Given the description of an element on the screen output the (x, y) to click on. 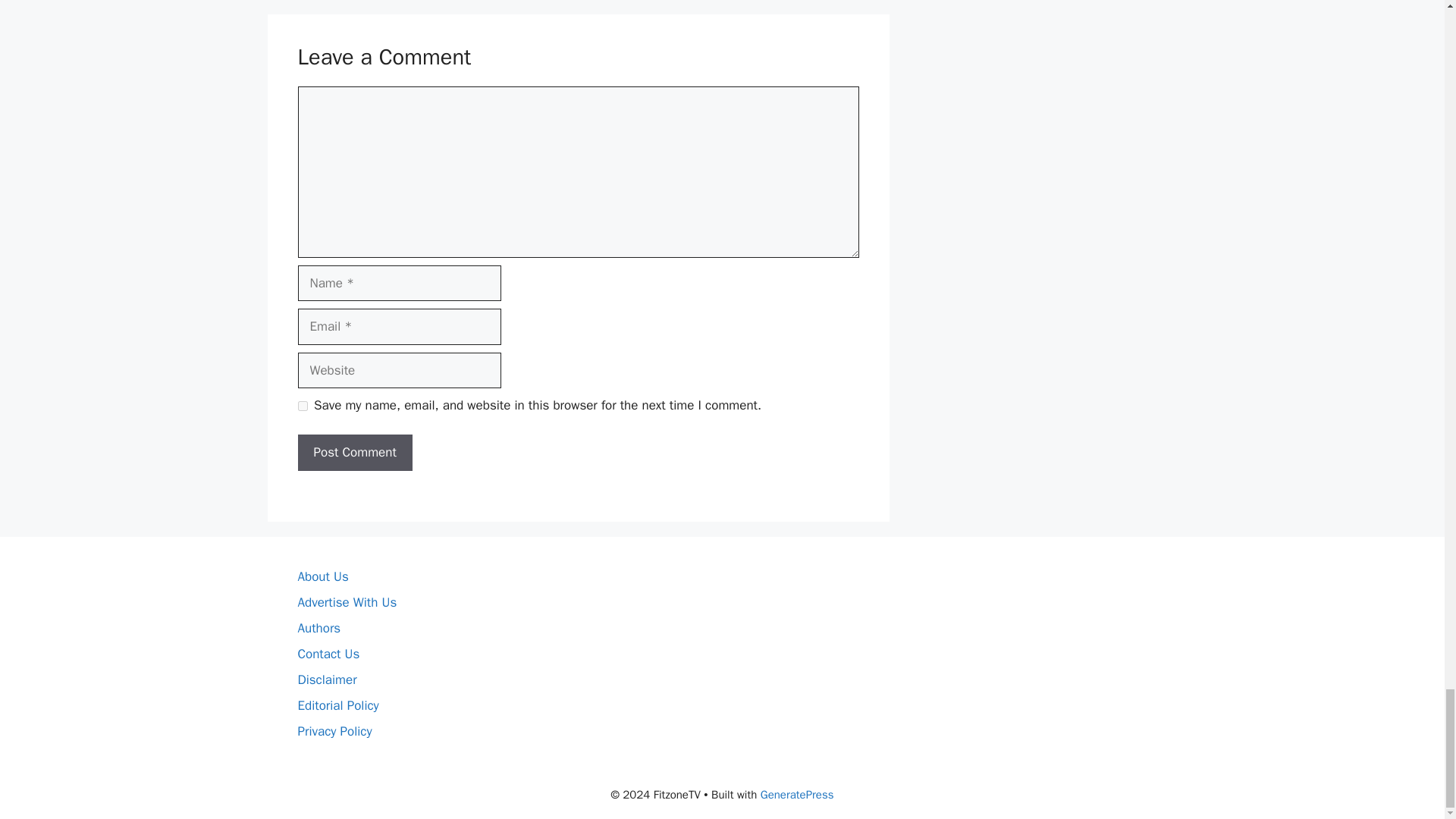
Post Comment (354, 452)
yes (302, 406)
Post Comment (354, 452)
